Given the description of an element on the screen output the (x, y) to click on. 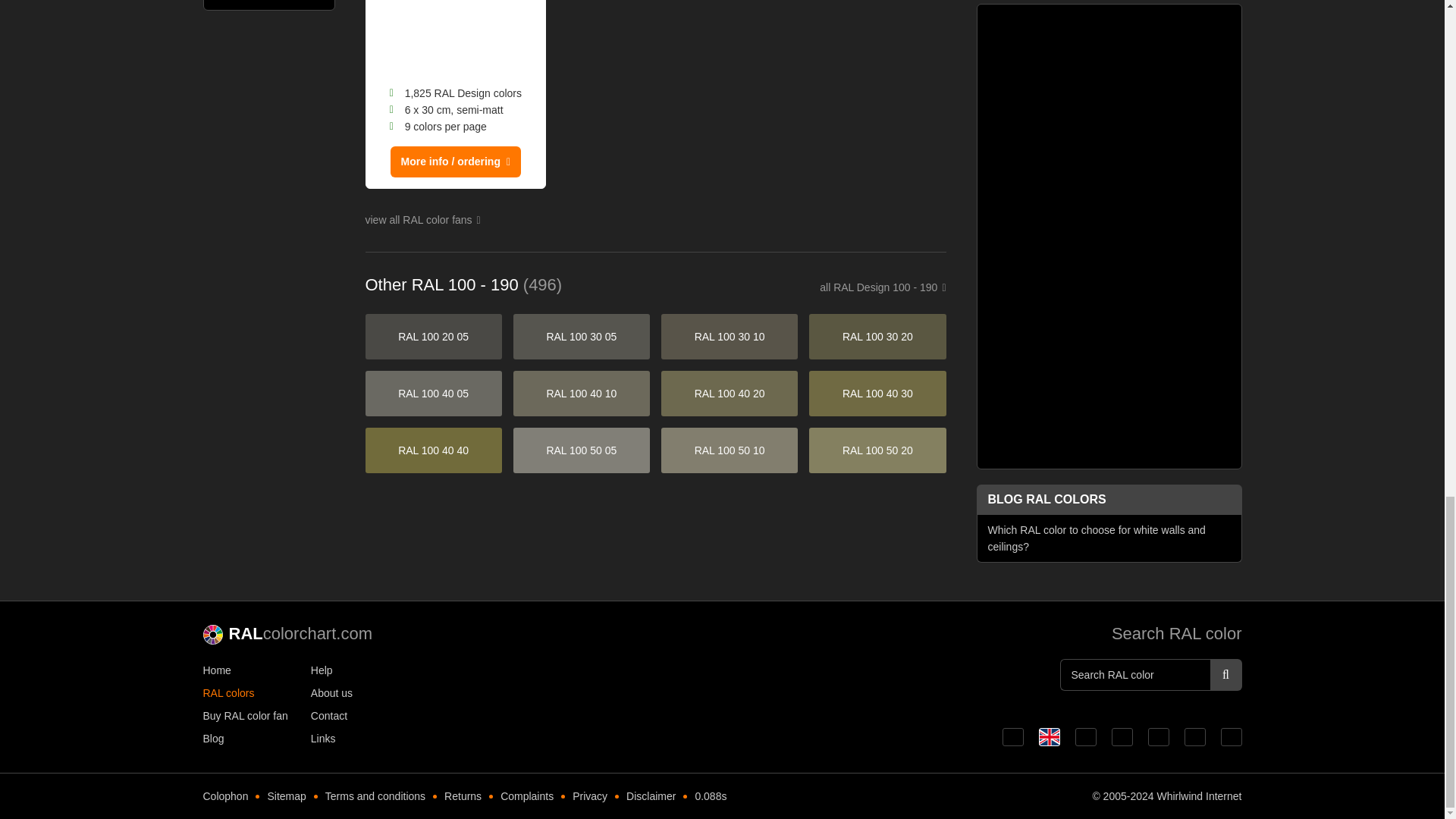
RAL 100 40 40 Brussels sprout green (433, 450)
RAL 100 40 30 High forest green (876, 393)
RAL 100 50 20 Green woodpecker olive (876, 450)
RAL 100 40 10 Slick green (581, 393)
RAL 100 30 05 Volcanic stone green (581, 336)
RAL 100 40 05 Doves grey (433, 393)
RAL 100 40 20 Broccoli green (729, 393)
RAL 100 30 10 Vermilion green (729, 336)
RAL 100 50 10 Lapwing grey green (729, 450)
RAL 100 50 05 Forest floor khaki (581, 450)
RAL 100 20 05 Night green (433, 336)
RAL 100 30 20 Uniform green (876, 336)
